Given the description of an element on the screen output the (x, y) to click on. 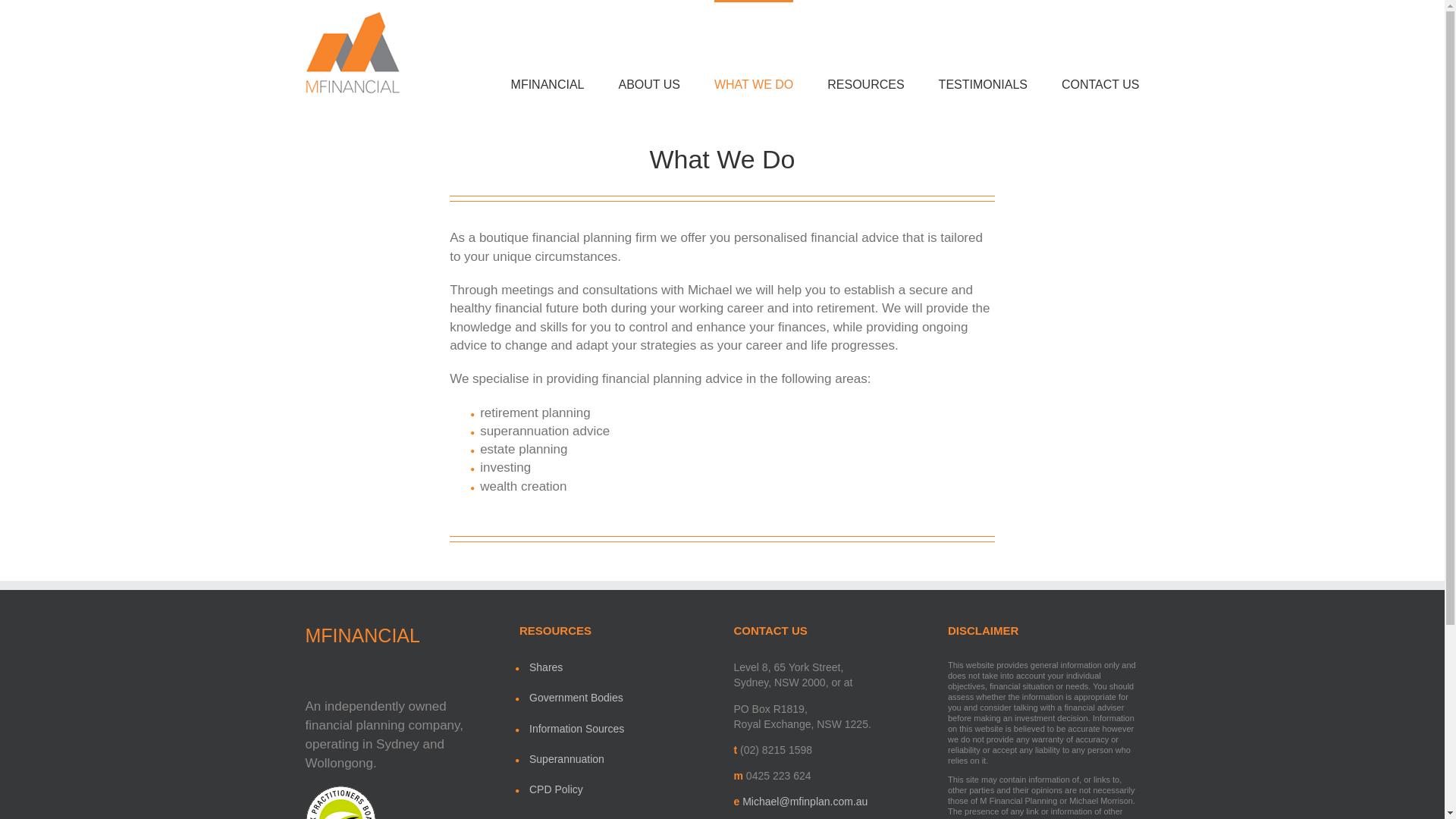
Superannuation (620, 758)
TESTIMONIALS (983, 45)
Information Sources (620, 727)
CPD Policy (620, 789)
Shares (620, 667)
Government Bodies (620, 697)
